Given the description of an element on the screen output the (x, y) to click on. 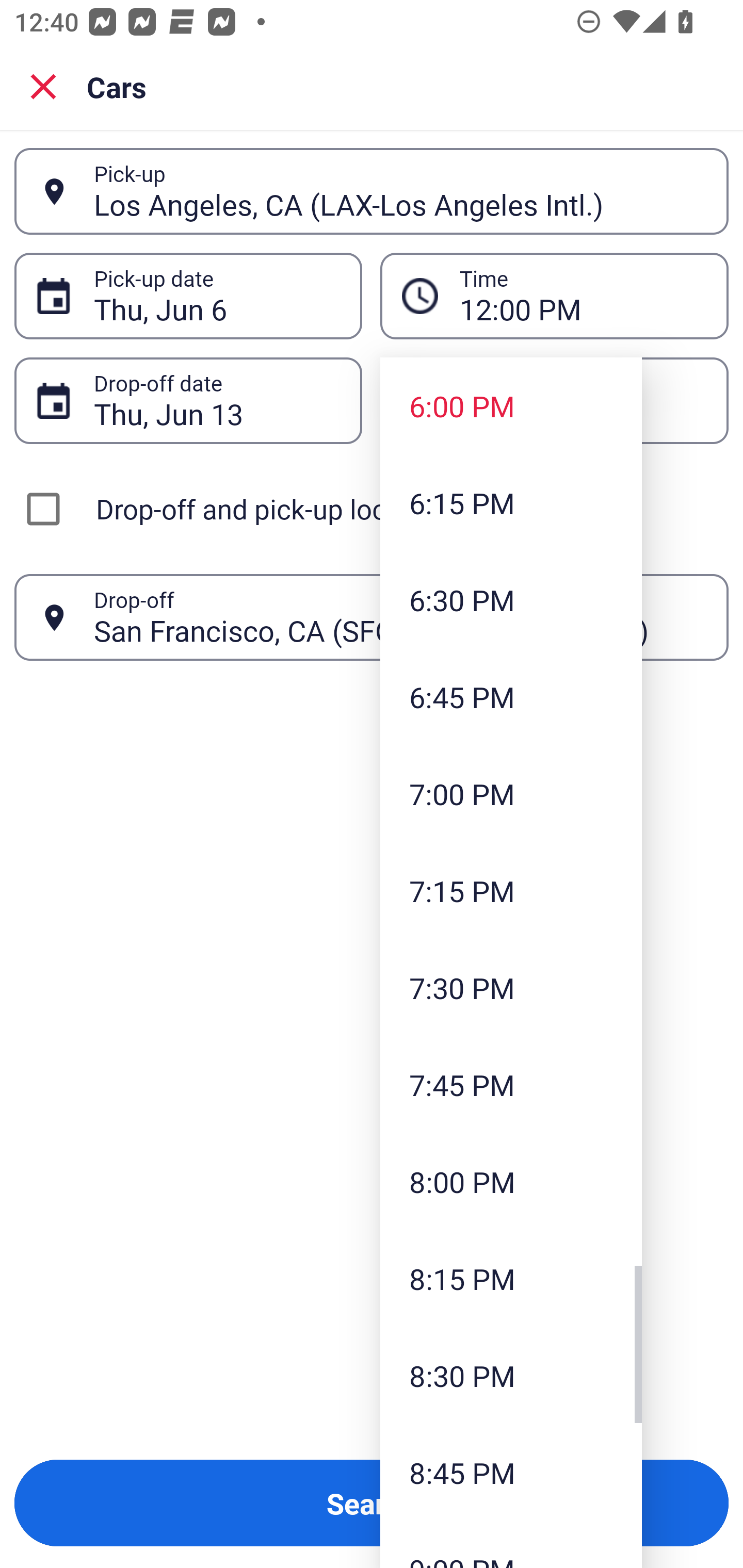
6:00 PM (510, 405)
6:15 PM (510, 502)
6:30 PM (510, 599)
6:45 PM (510, 695)
7:00 PM (510, 793)
7:15 PM (510, 890)
7:30 PM (510, 987)
7:45 PM (510, 1084)
8:00 PM (510, 1181)
8:15 PM (510, 1278)
8:30 PM (510, 1374)
8:45 PM (510, 1471)
